Given the description of an element on the screen output the (x, y) to click on. 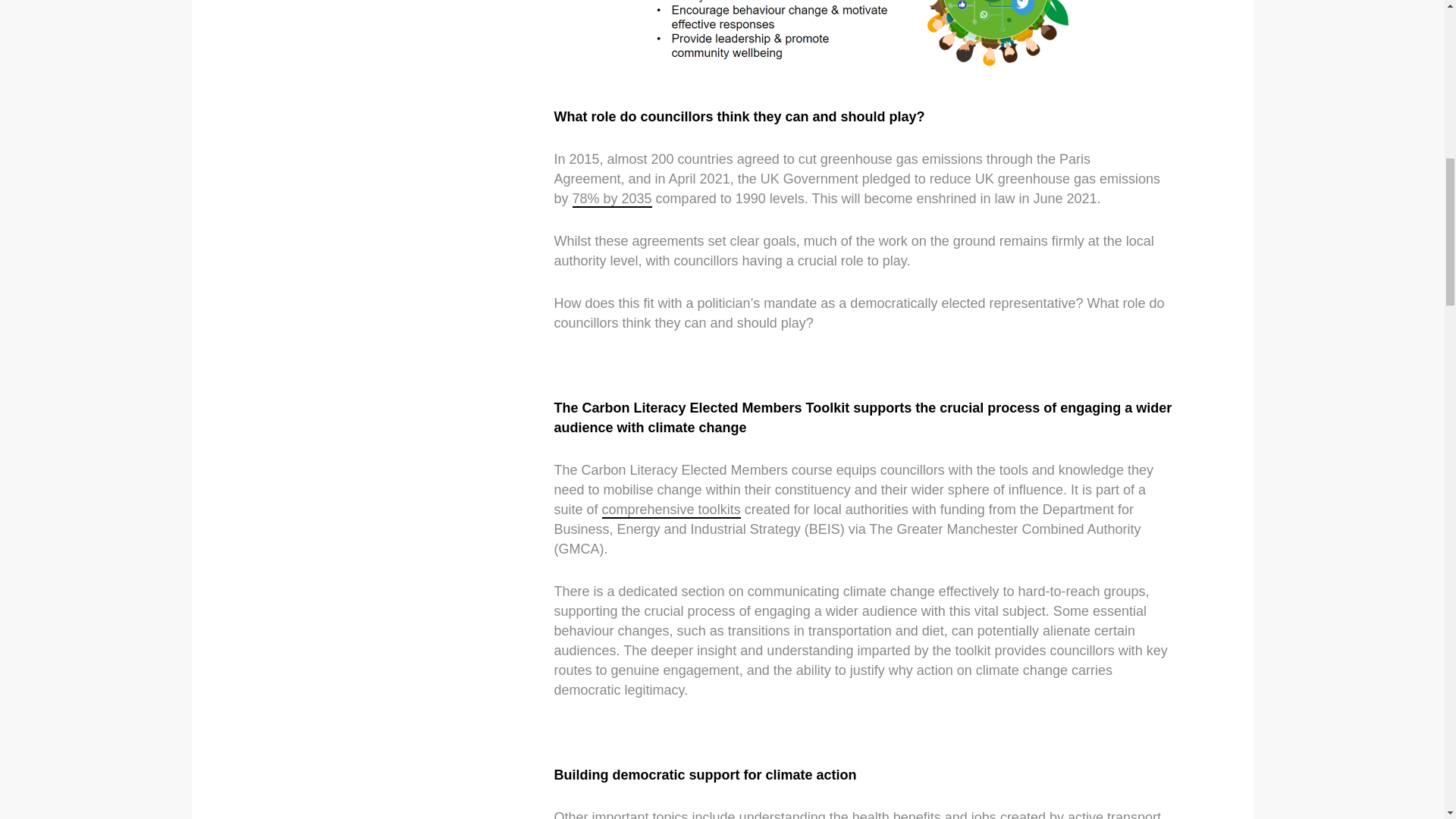
comprehensive toolkits (671, 510)
